Given the description of an element on the screen output the (x, y) to click on. 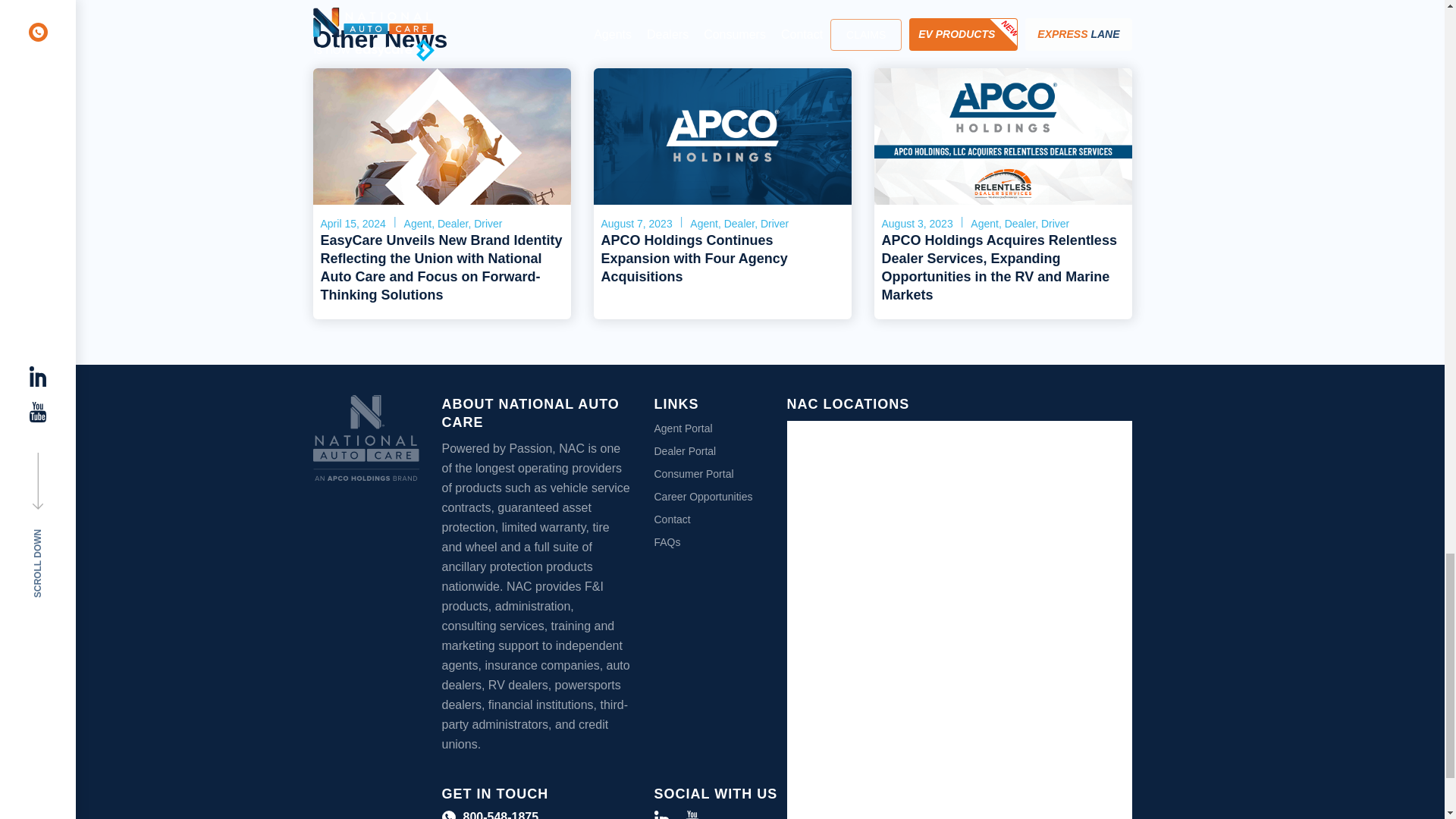
Agent Portal (682, 428)
FAQs (666, 541)
Dealer Portal (684, 451)
Consumer Portal (693, 473)
Career Opportunities (702, 496)
Contact (671, 519)
